Given the description of an element on the screen output the (x, y) to click on. 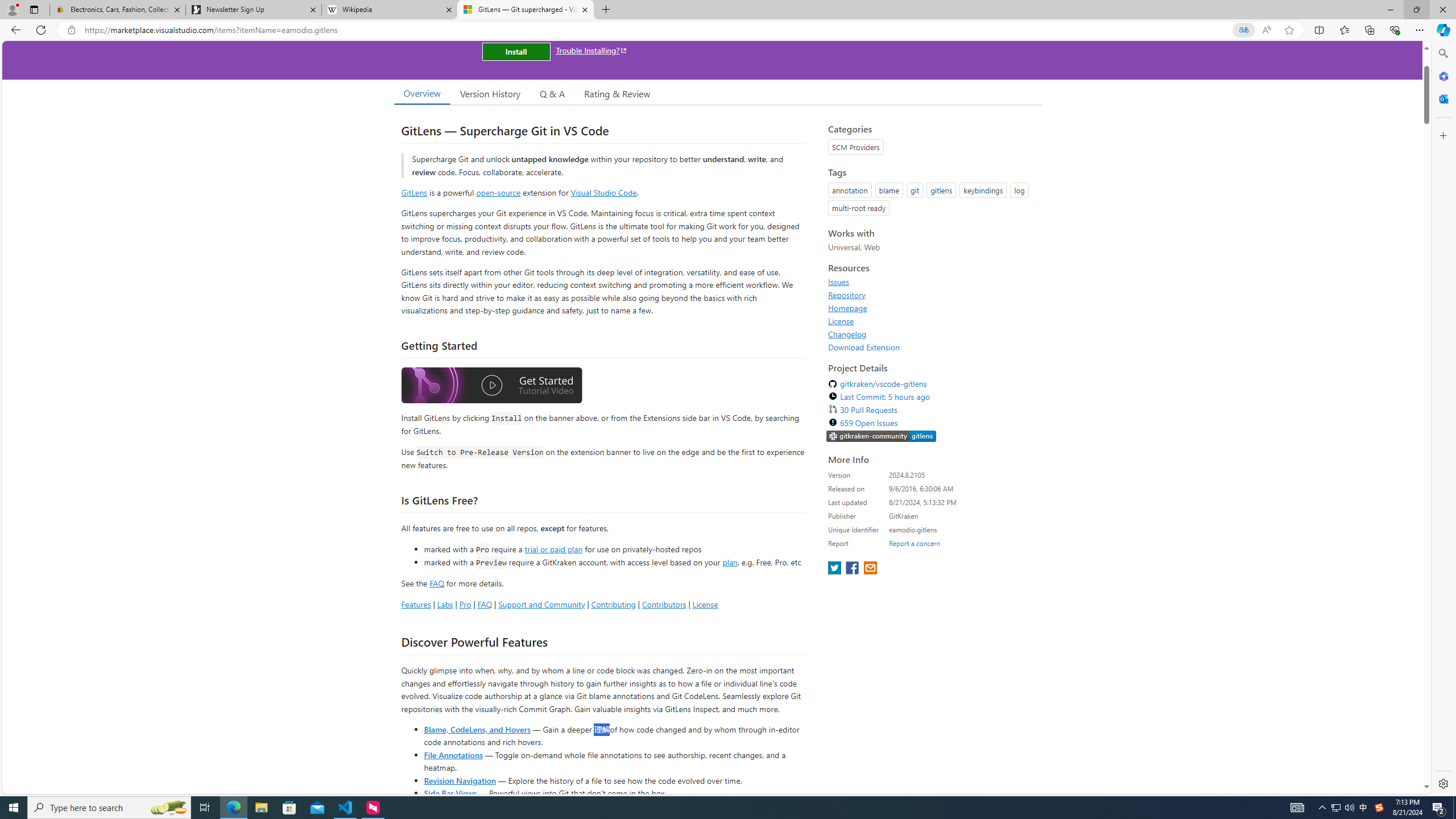
Outlook (1442, 98)
share extension on twitter (835, 568)
Read aloud this page (Ctrl+Shift+U) (1266, 29)
Settings (1442, 783)
share extension on email (869, 568)
Split screen (1318, 29)
Report a concern (914, 542)
App bar (728, 29)
Tab actions menu (33, 9)
